Given the description of an element on the screen output the (x, y) to click on. 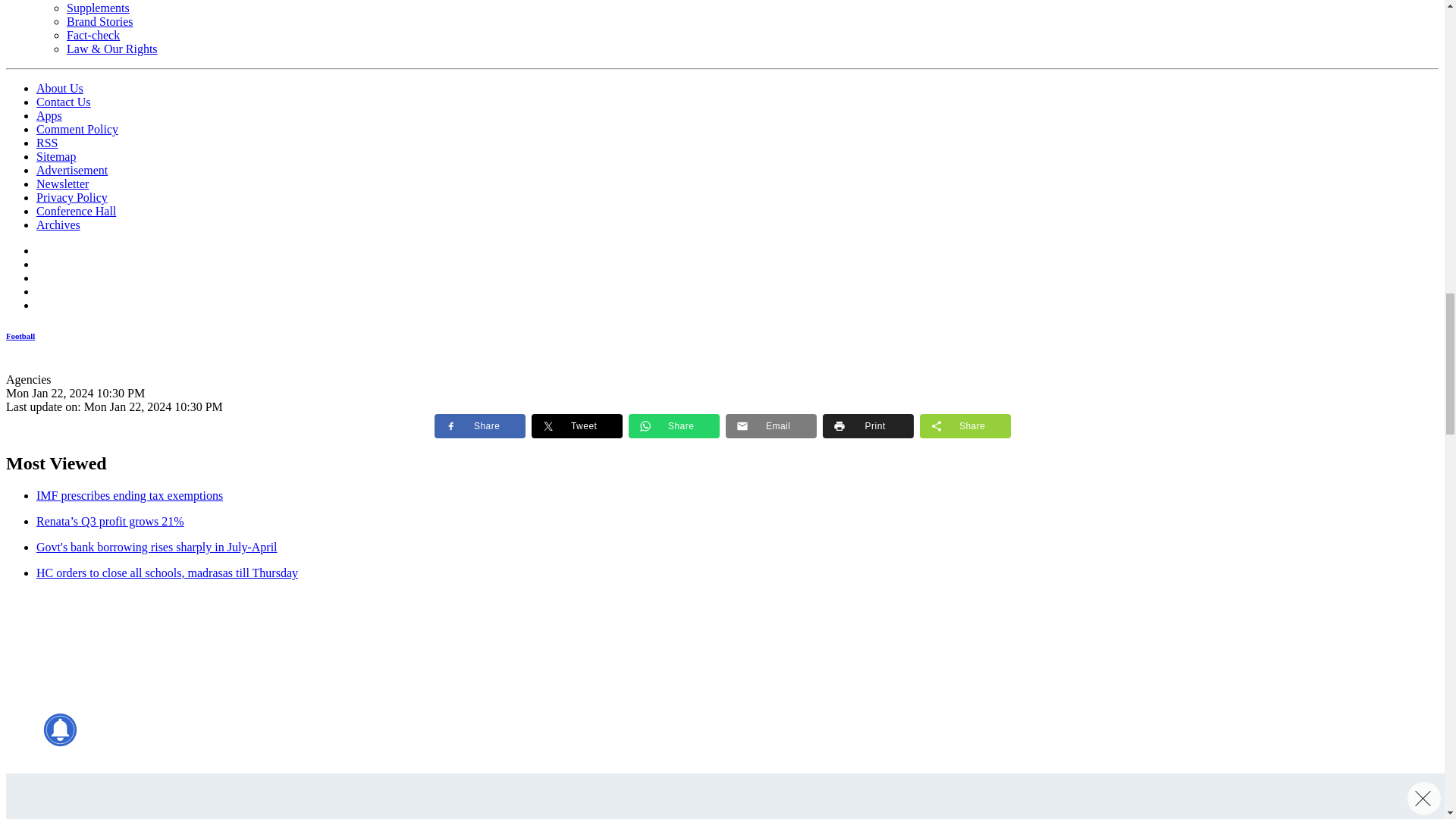
3rd party ad content (118, 687)
3rd party ad content (118, 800)
